Given the description of an element on the screen output the (x, y) to click on. 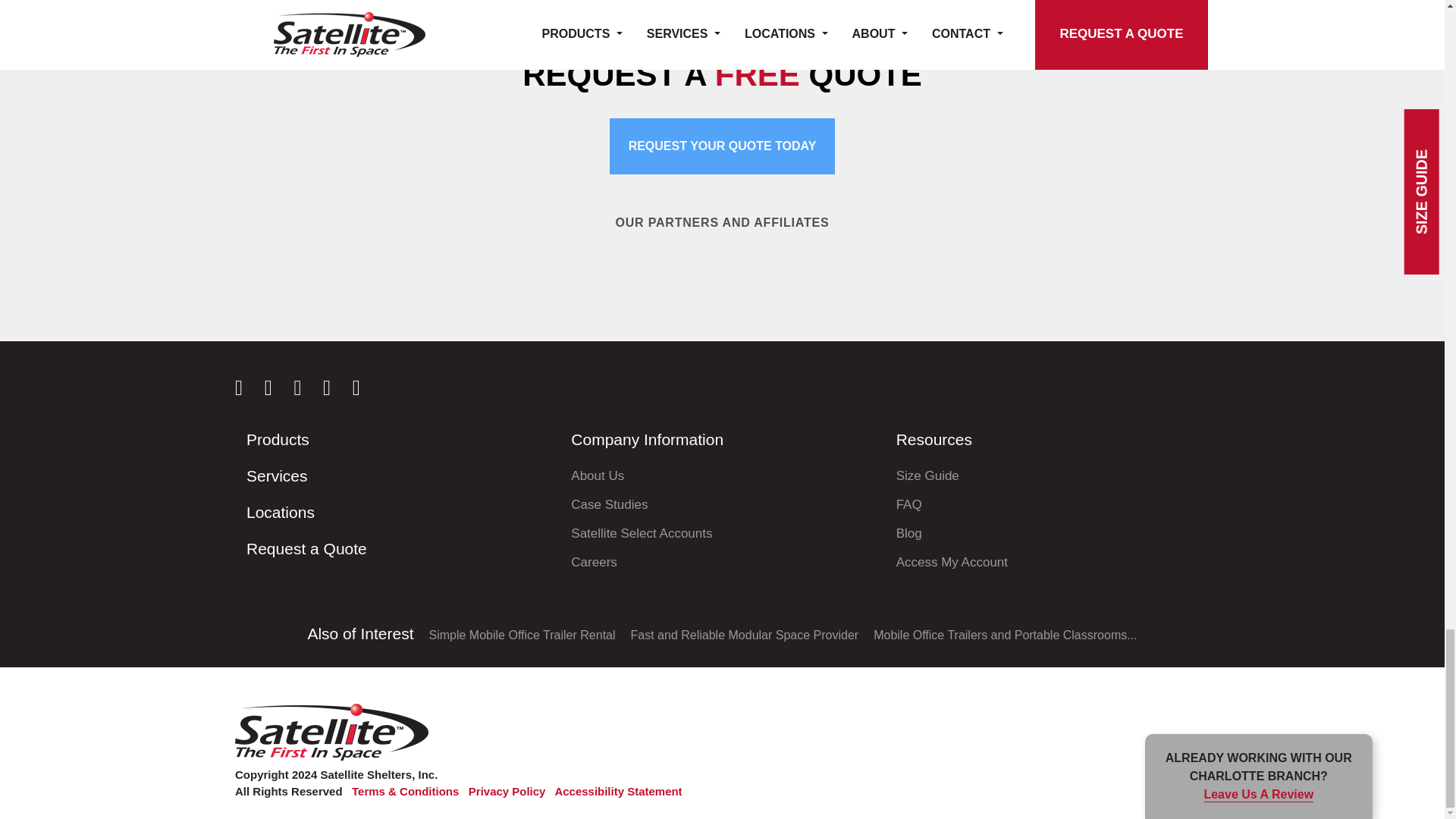
Find us on YouTube (306, 390)
Find us on Twitter (336, 390)
Send us an Email (365, 390)
Find us on Facebook (247, 390)
Find us on LinkedIn (276, 390)
